Given the description of an element on the screen output the (x, y) to click on. 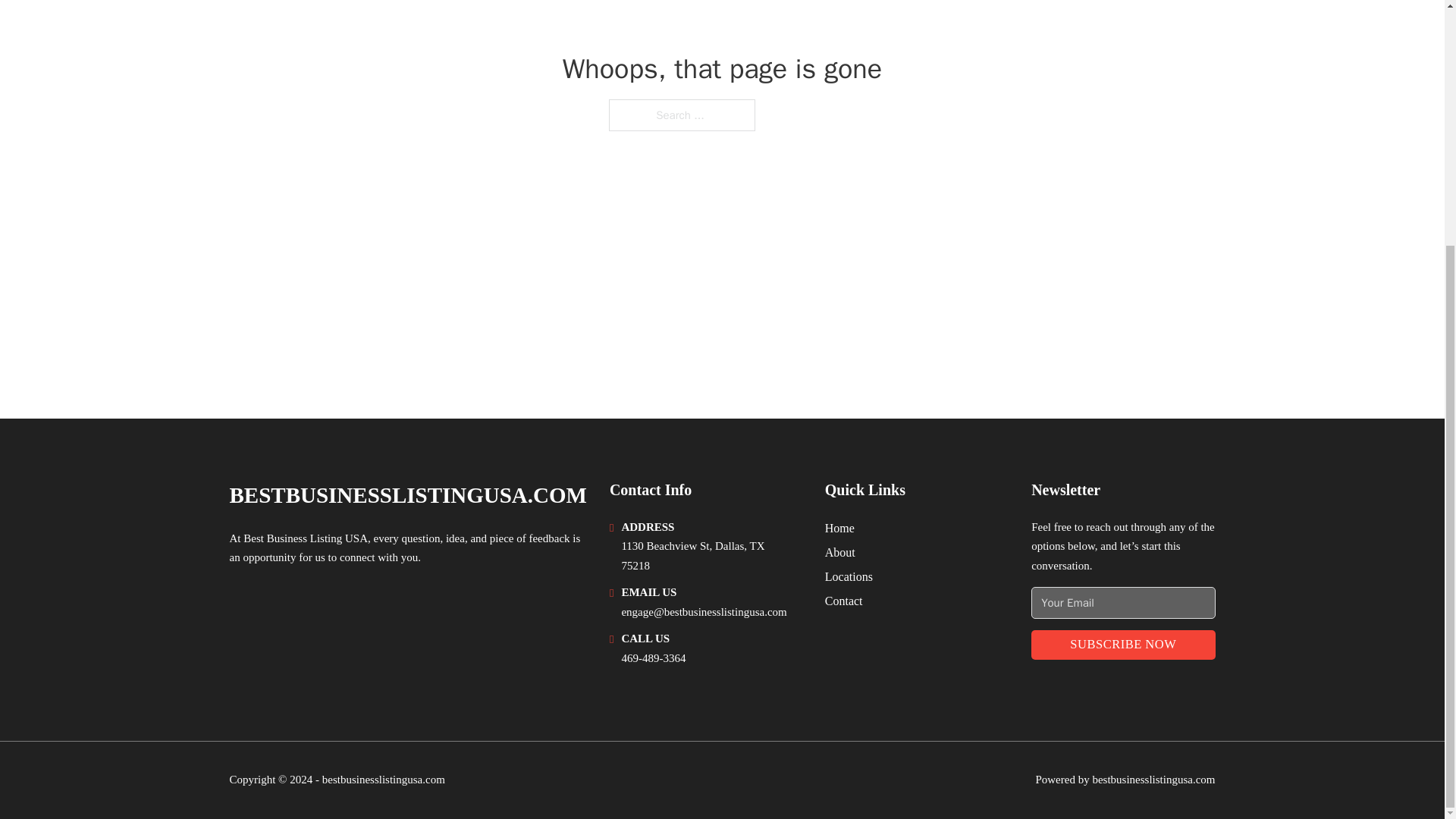
Contact (844, 600)
BESTBUSINESSLISTINGUSA.COM (407, 495)
About (840, 552)
SUBSCRIBE NOW (1122, 644)
469-489-3364 (653, 657)
Locations (848, 576)
Home (839, 527)
